Given the description of an element on the screen output the (x, y) to click on. 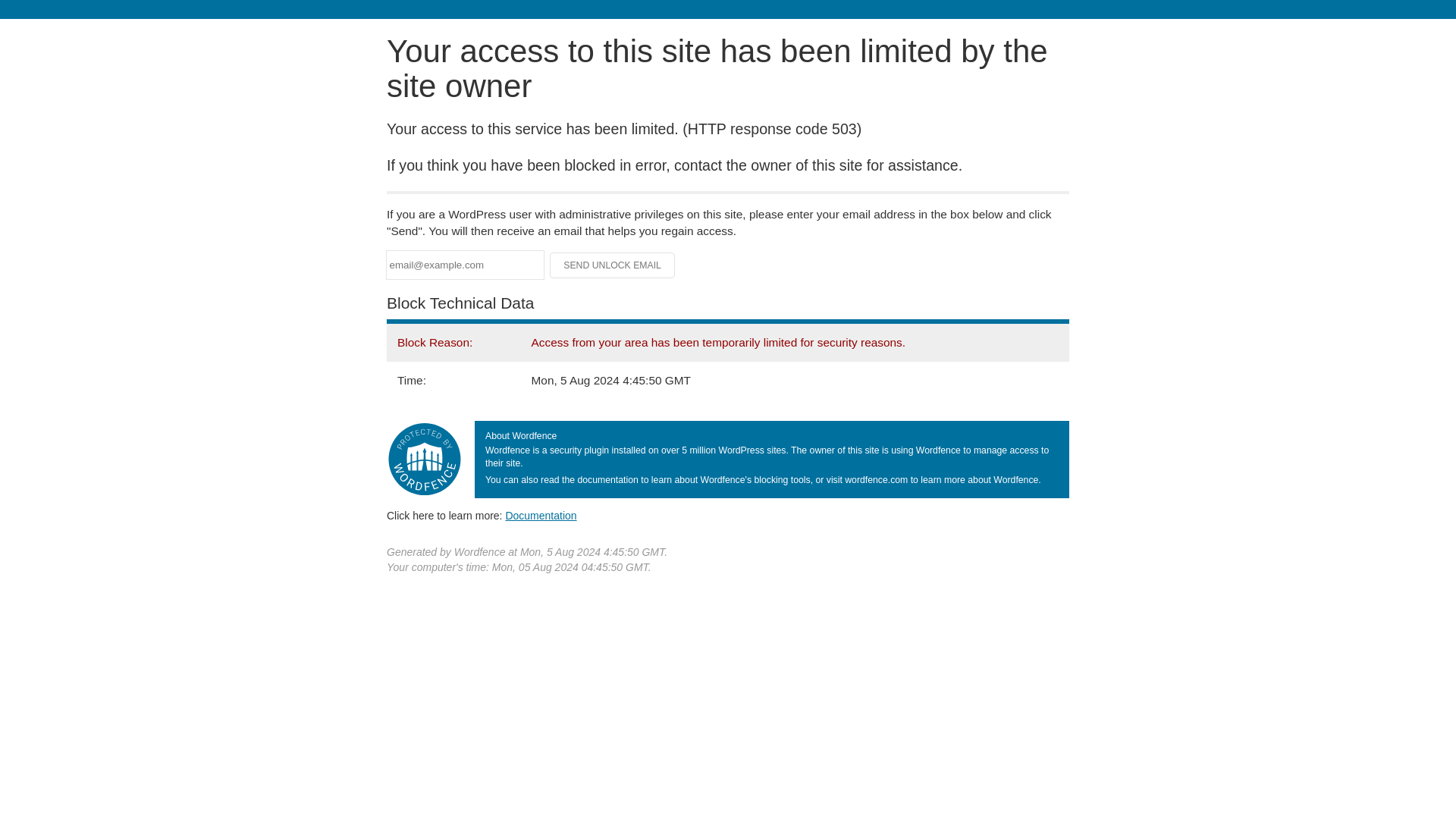
Documentation (540, 515)
Send Unlock Email (612, 265)
Send Unlock Email (612, 265)
